Given the description of an element on the screen output the (x, y) to click on. 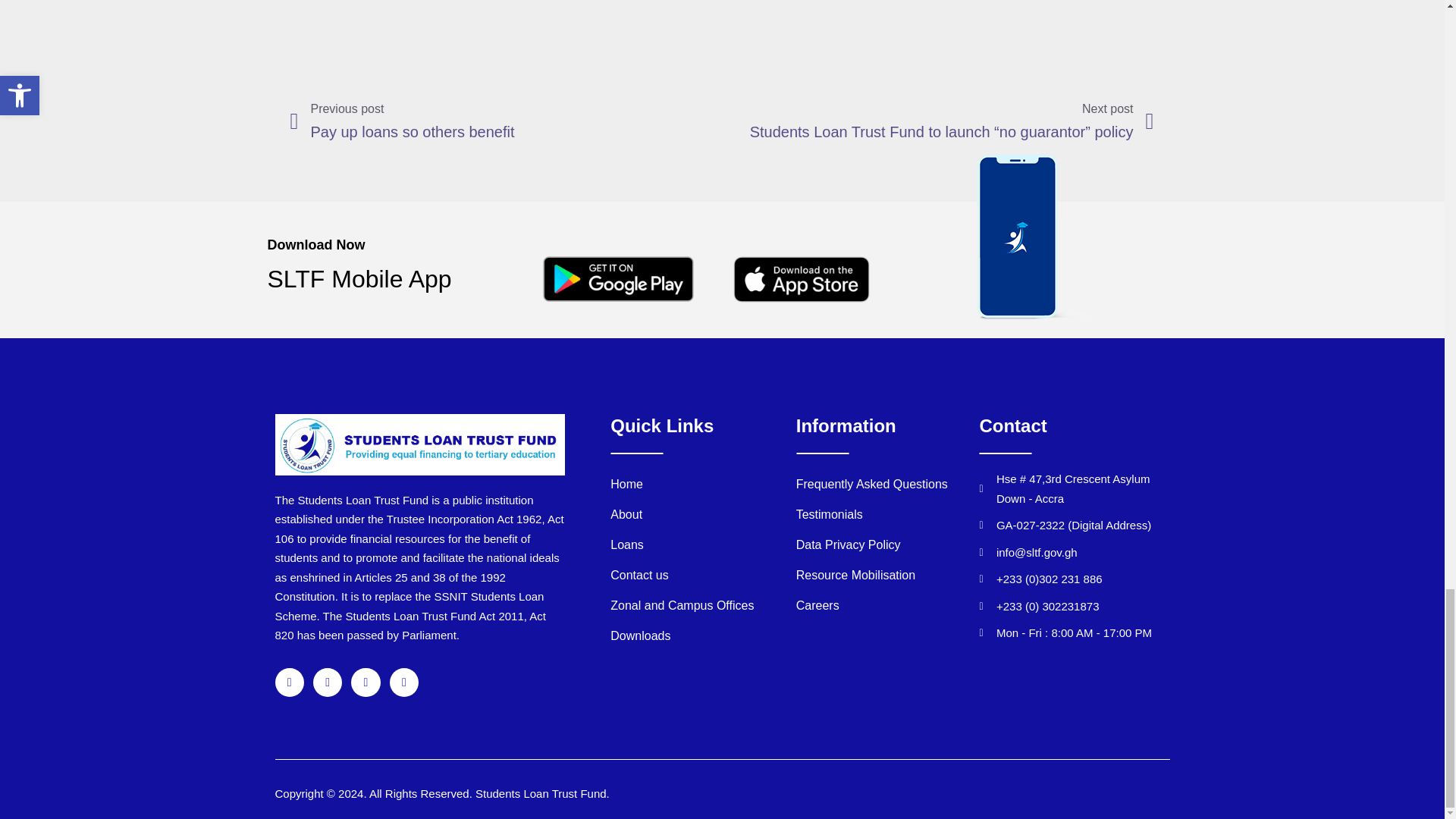
Home (702, 484)
About (505, 121)
